Given the description of an element on the screen output the (x, y) to click on. 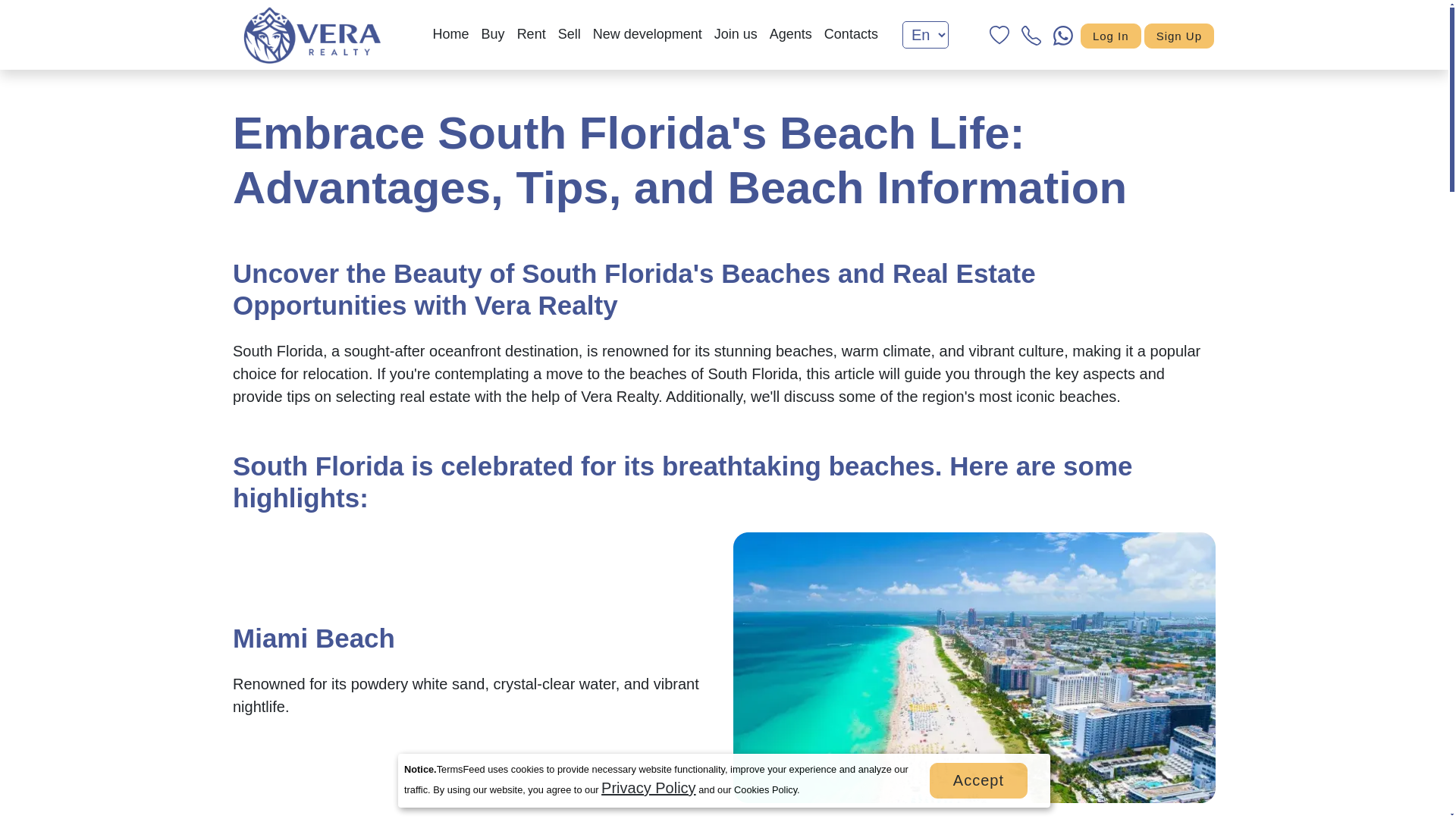
Sign Up (1179, 35)
Agents (790, 34)
Accept (978, 780)
Contacts (850, 34)
Join us (734, 34)
Buy (493, 34)
Home (451, 34)
Privacy Policy (648, 787)
New development (646, 34)
Rent (531, 34)
Log In (1110, 35)
Sell (568, 34)
